Given the description of an element on the screen output the (x, y) to click on. 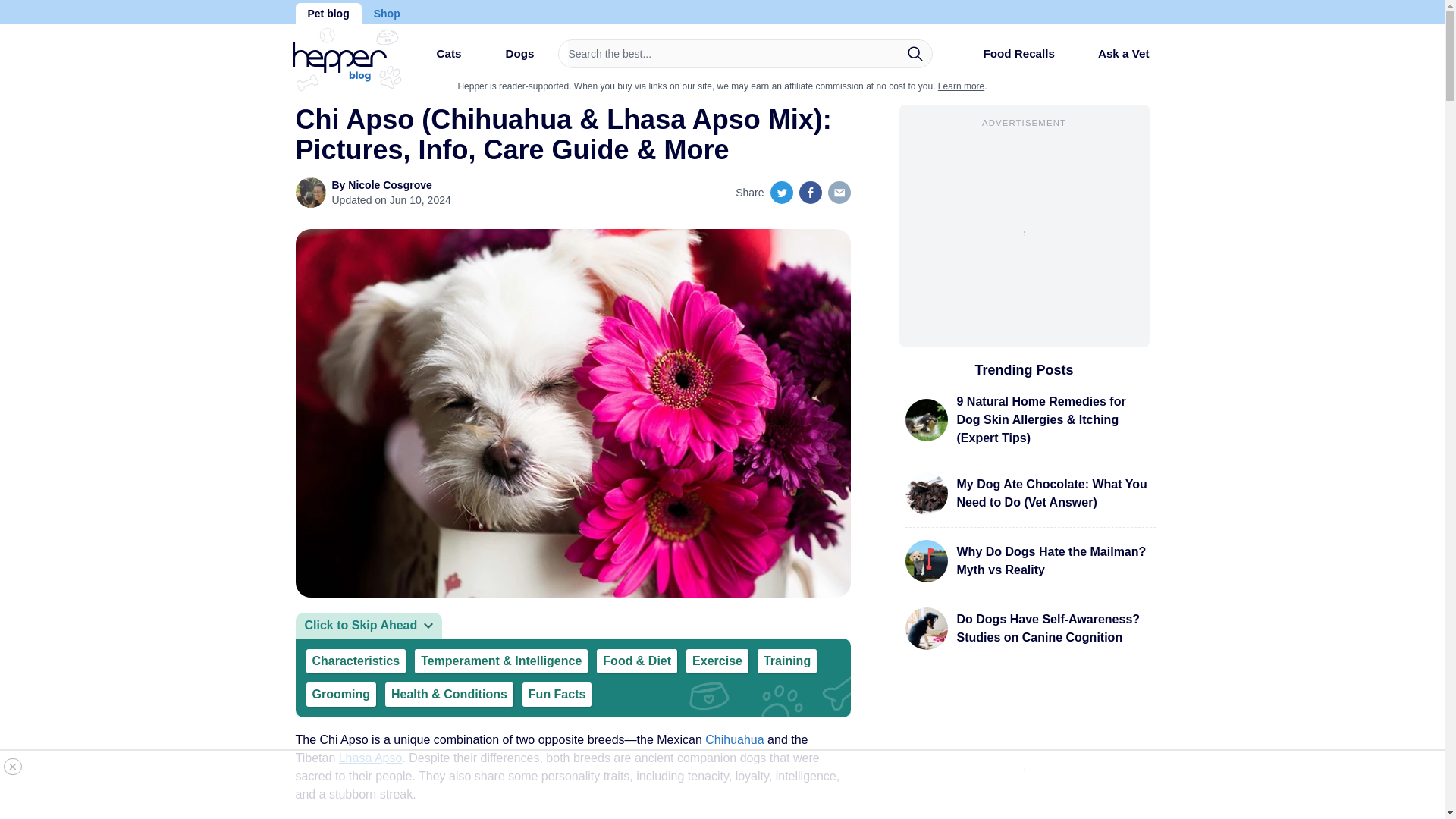
Training (786, 661)
Learn more (960, 86)
Exercise (716, 661)
Ask a Vet (1111, 53)
Cats (435, 59)
Grooming (340, 694)
Nicole Cosgrove (388, 184)
Dogs (506, 59)
Shop (387, 13)
Food Recalls (1005, 59)
Characteristics (355, 661)
